Given the description of an element on the screen output the (x, y) to click on. 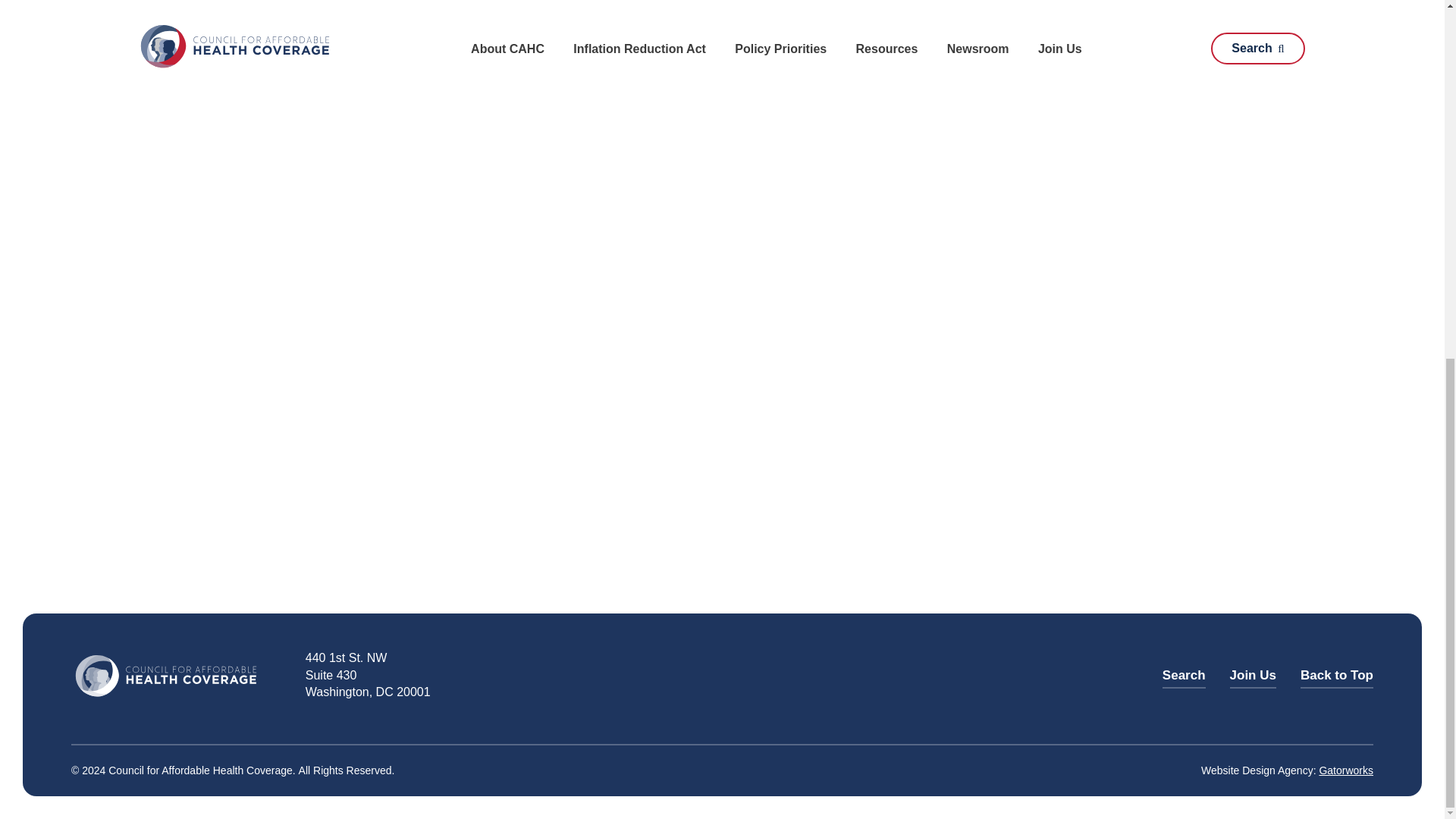
Back to Top (1336, 675)
